Given the description of an element on the screen output the (x, y) to click on. 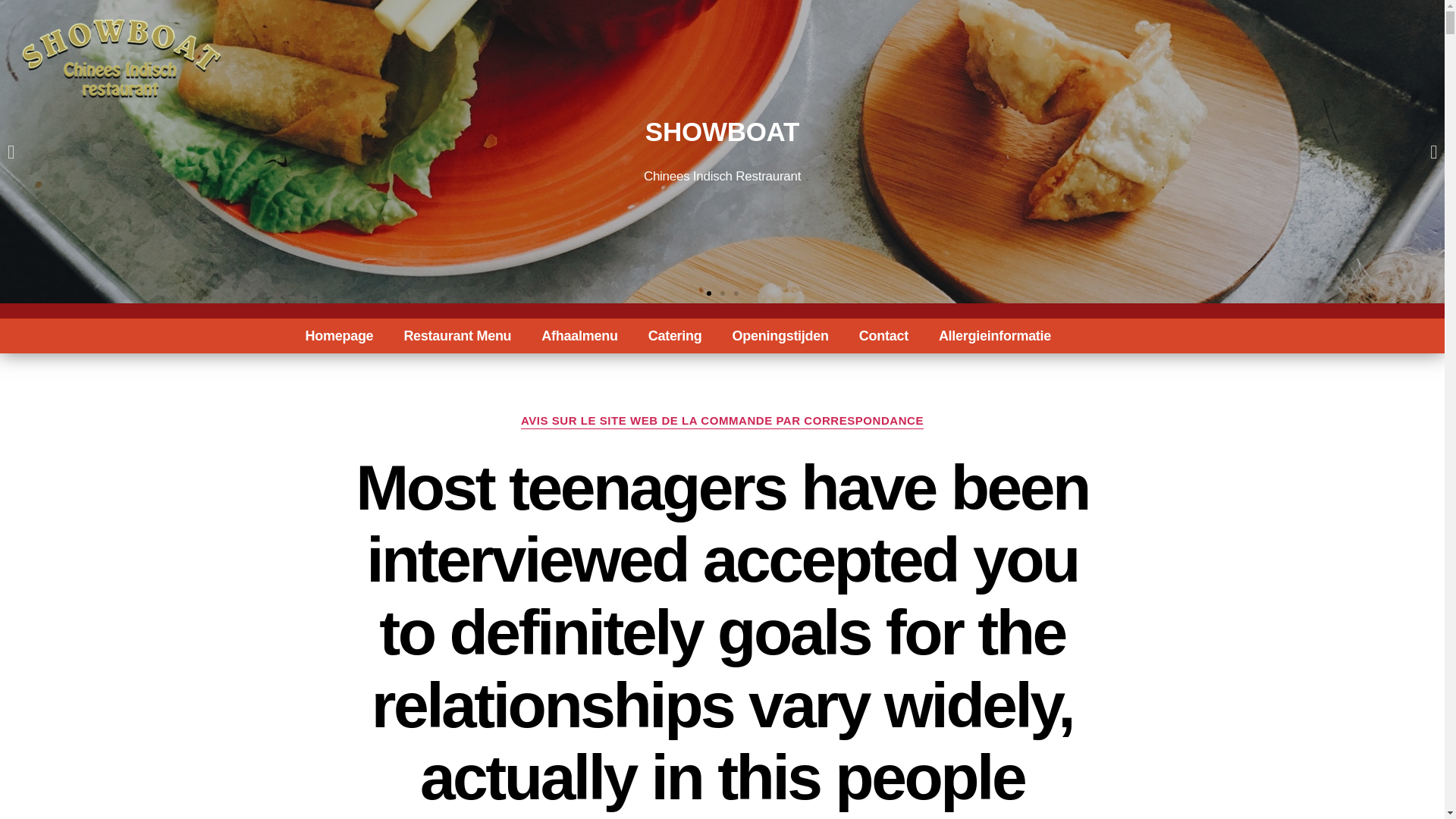
Afhaalmenu (578, 335)
AVIS SUR LE SITE WEB DE LA COMMANDE PAR CORRESPONDANCE (722, 421)
Homepage (338, 335)
Openingstijden (780, 335)
Catering (675, 335)
Restaurant Menu (456, 335)
Allergieinformatie (994, 335)
Contact (883, 335)
